Given the description of an element on the screen output the (x, y) to click on. 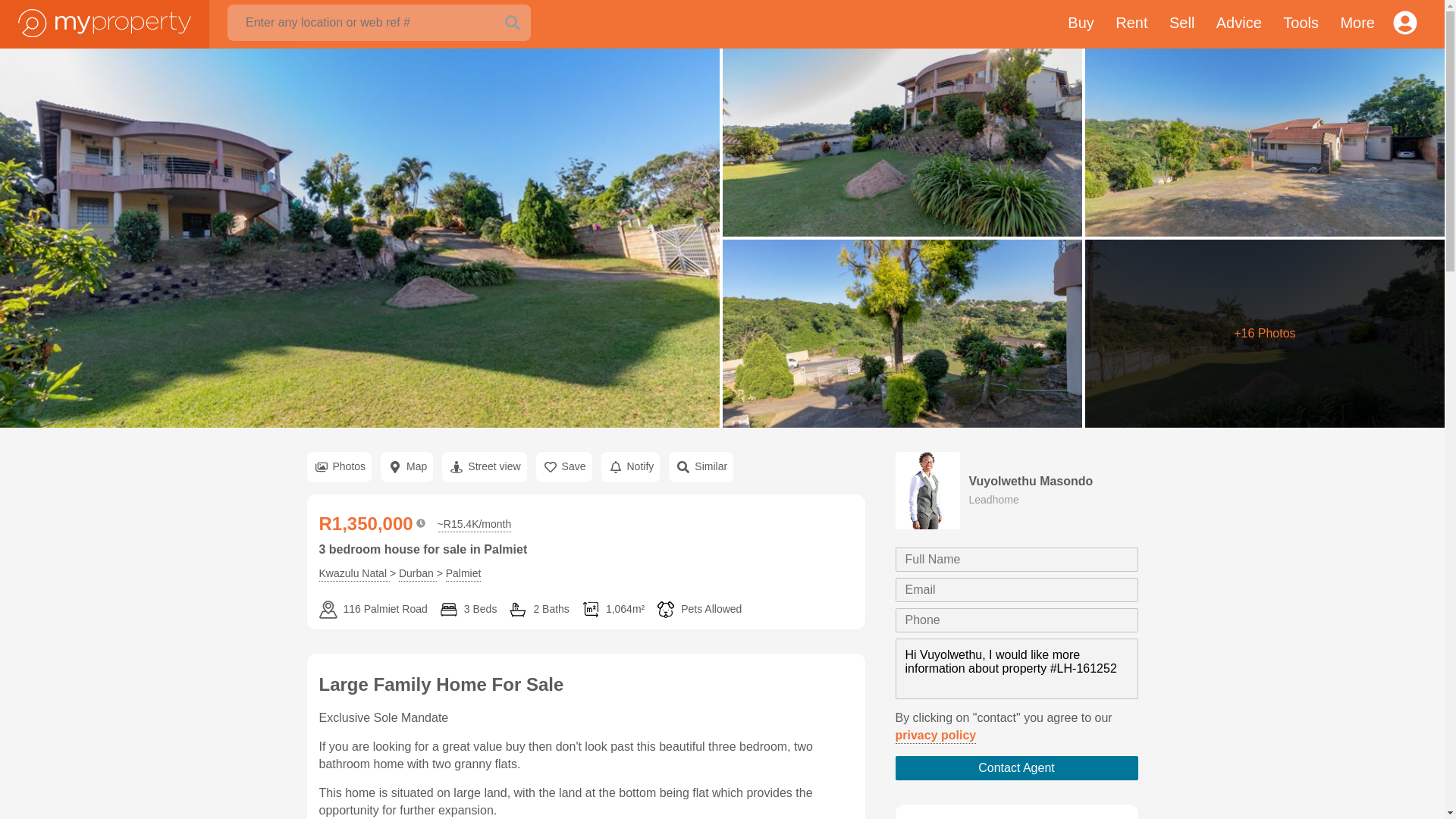
Advice (1238, 24)
Pets allowed (698, 610)
Tools (1300, 24)
Sell (1181, 24)
Property address (372, 610)
Your estimated total monthly repayments, click for details (475, 524)
Buy (1080, 24)
Houses and Properties for sale and rent in South Africa (104, 21)
Rent (1131, 24)
